Given the description of an element on the screen output the (x, y) to click on. 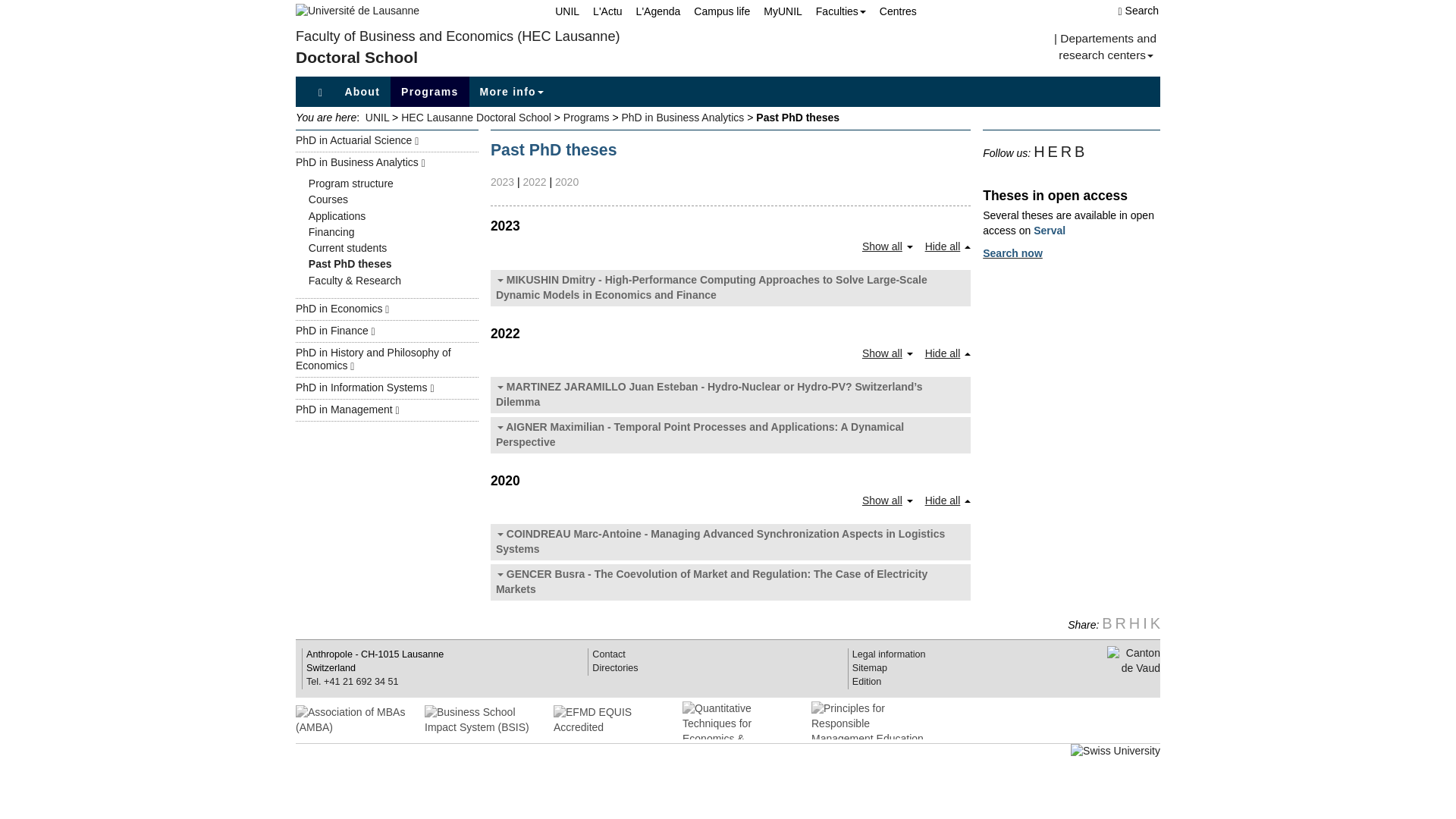
UNIL (560, 10)
Centres (891, 10)
L'Agenda (652, 10)
Campus life (714, 10)
L'Actu (600, 10)
Doctoral School (356, 57)
MyUNIL (775, 10)
Faculties (834, 10)
